Given the description of an element on the screen output the (x, y) to click on. 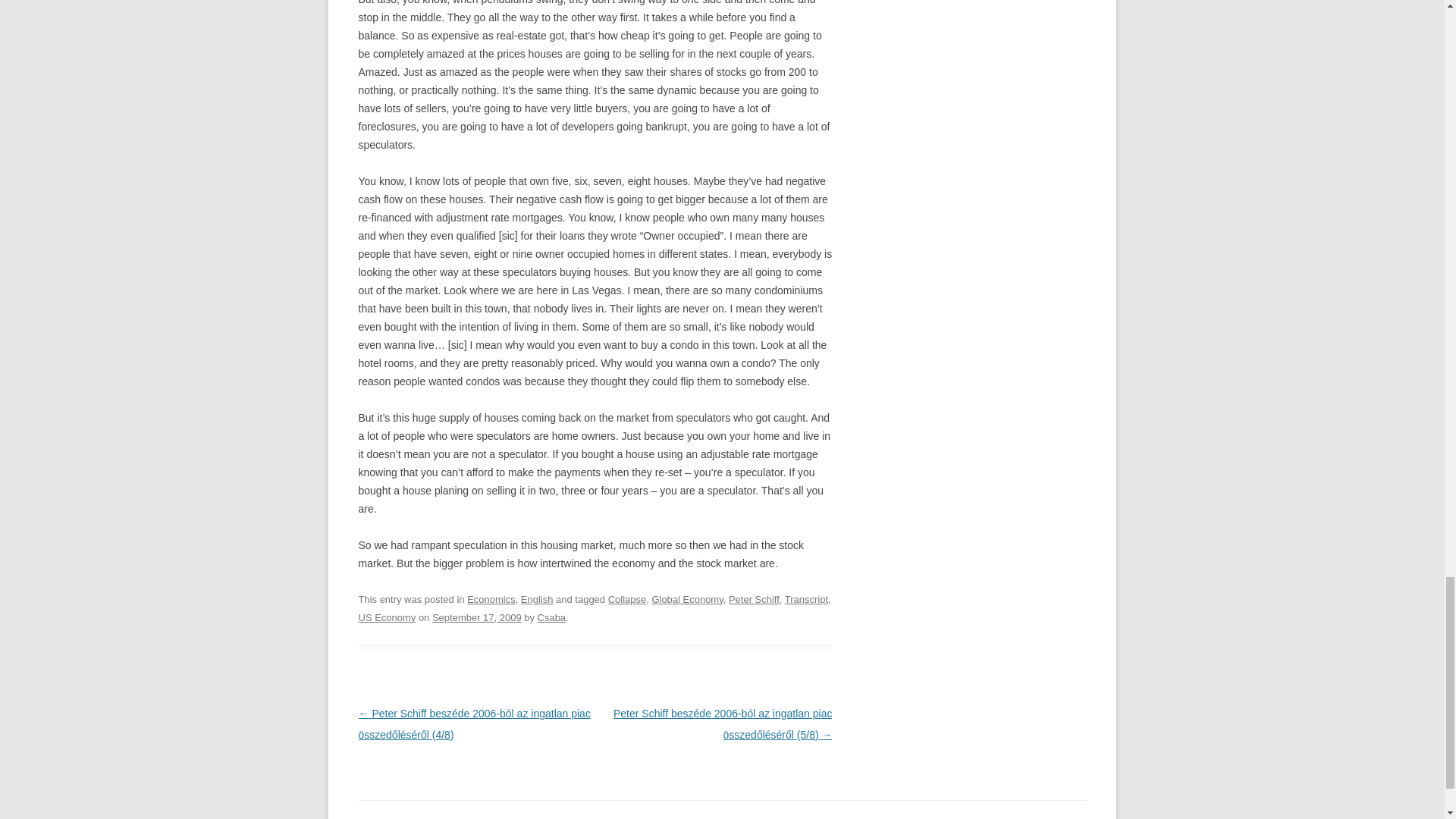
10:02 pm (476, 617)
Transcript (806, 599)
September 17, 2009 (476, 617)
Peter Schiff (753, 599)
US Economy (386, 617)
Global Economy (686, 599)
Economics (491, 599)
Csaba (551, 617)
View all posts by Csaba (551, 617)
English (537, 599)
Collapse (627, 599)
